Given the description of an element on the screen output the (x, y) to click on. 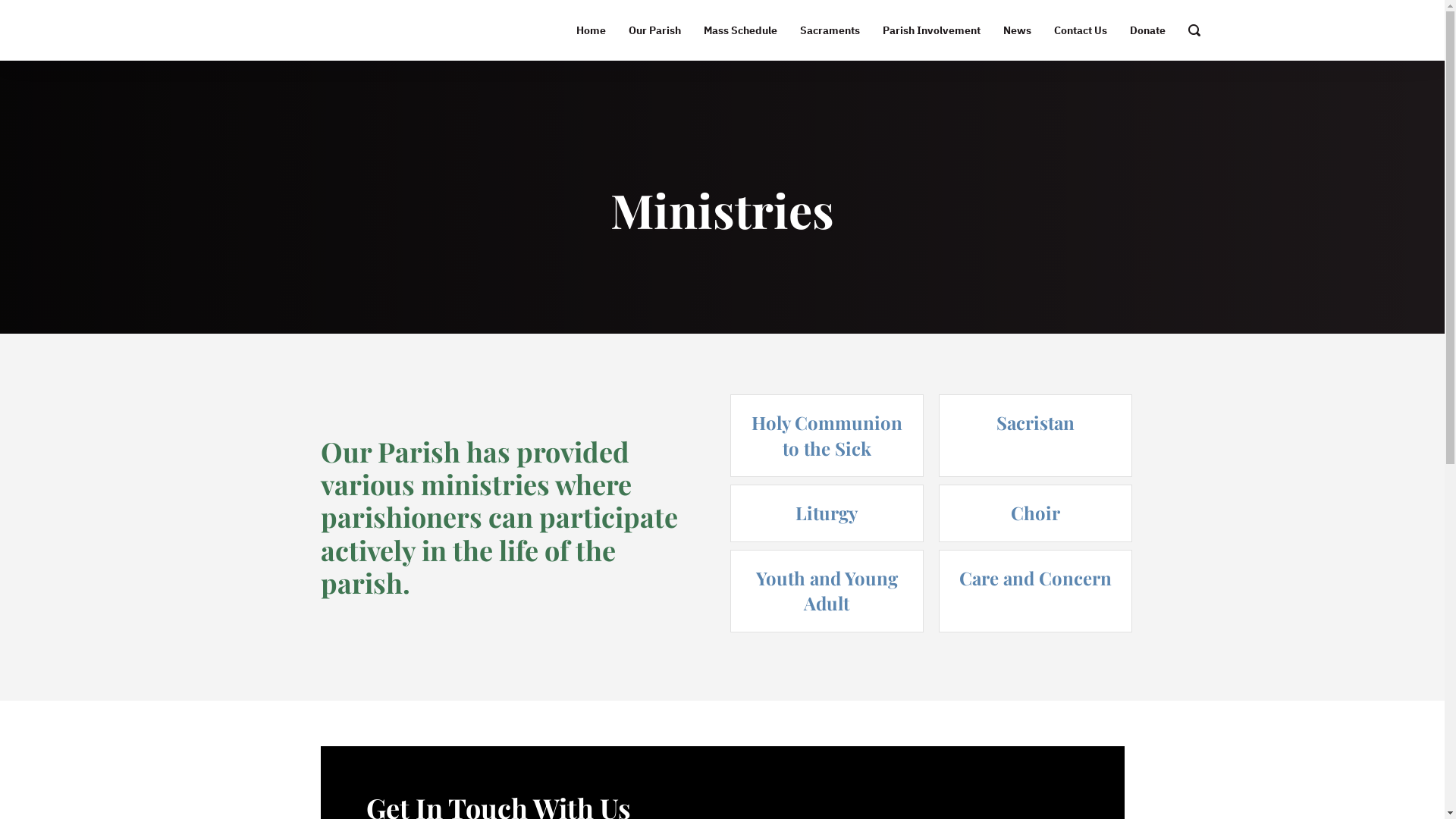
Contact Us Element type: text (1079, 30)
Donate Element type: text (1146, 30)
Home Element type: text (590, 30)
Sacraments Element type: text (829, 30)
Mass Schedule Element type: text (739, 30)
Our Parish Element type: text (654, 30)
News Element type: text (1016, 30)
Parish Involvement Element type: text (930, 30)
